Given the description of an element on the screen output the (x, y) to click on. 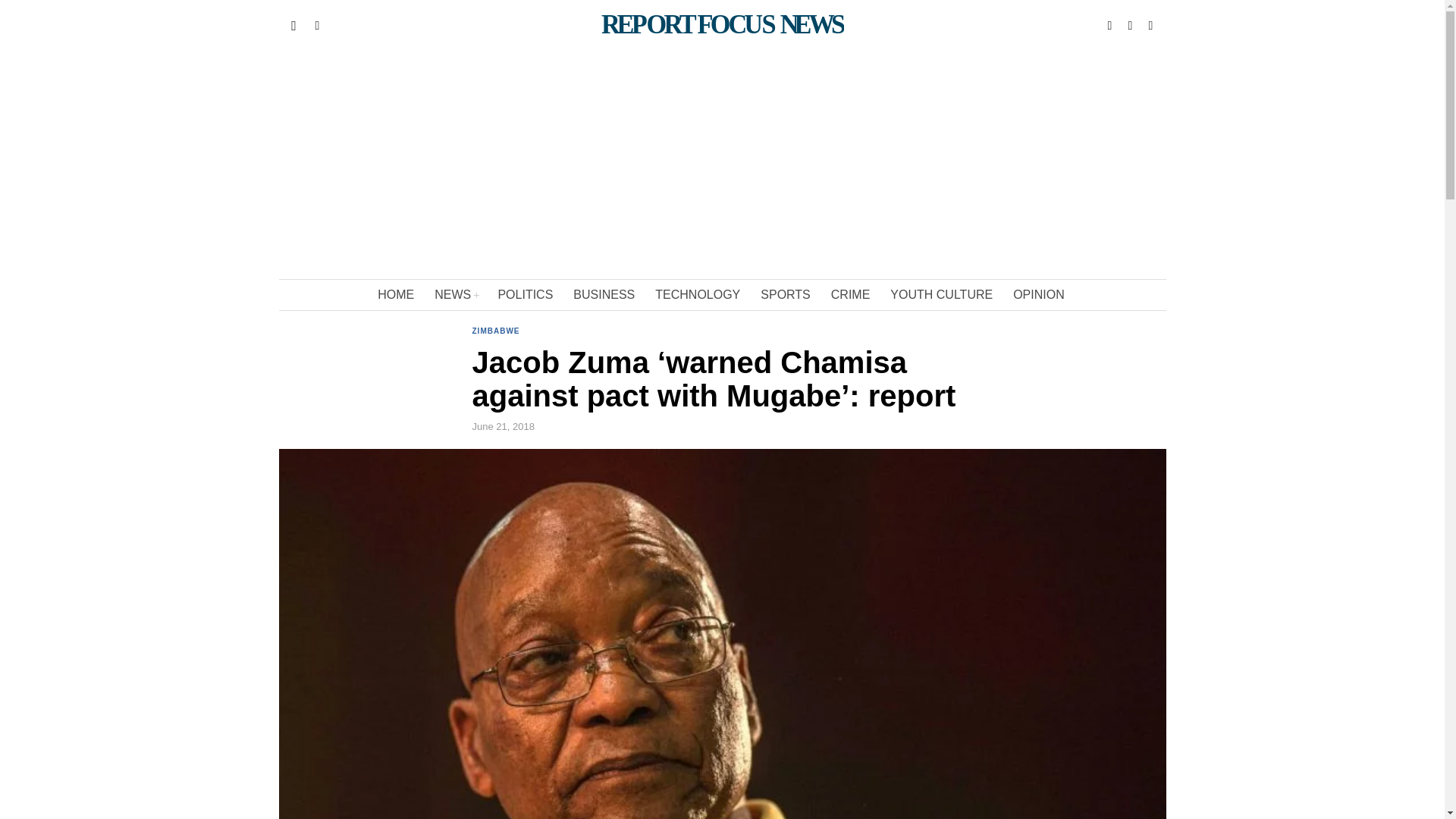
POLITICS (525, 295)
HOME (396, 295)
BUSINESS (605, 295)
TECHNOLOGY (698, 295)
NEWS (456, 295)
21 Jun, 2018 05:07:14 (502, 427)
ZIMBABWE (495, 331)
OPINION (1039, 295)
SPORTS (786, 295)
CRIME (852, 295)
YOUTH CULTURE (942, 295)
